Given the description of an element on the screen output the (x, y) to click on. 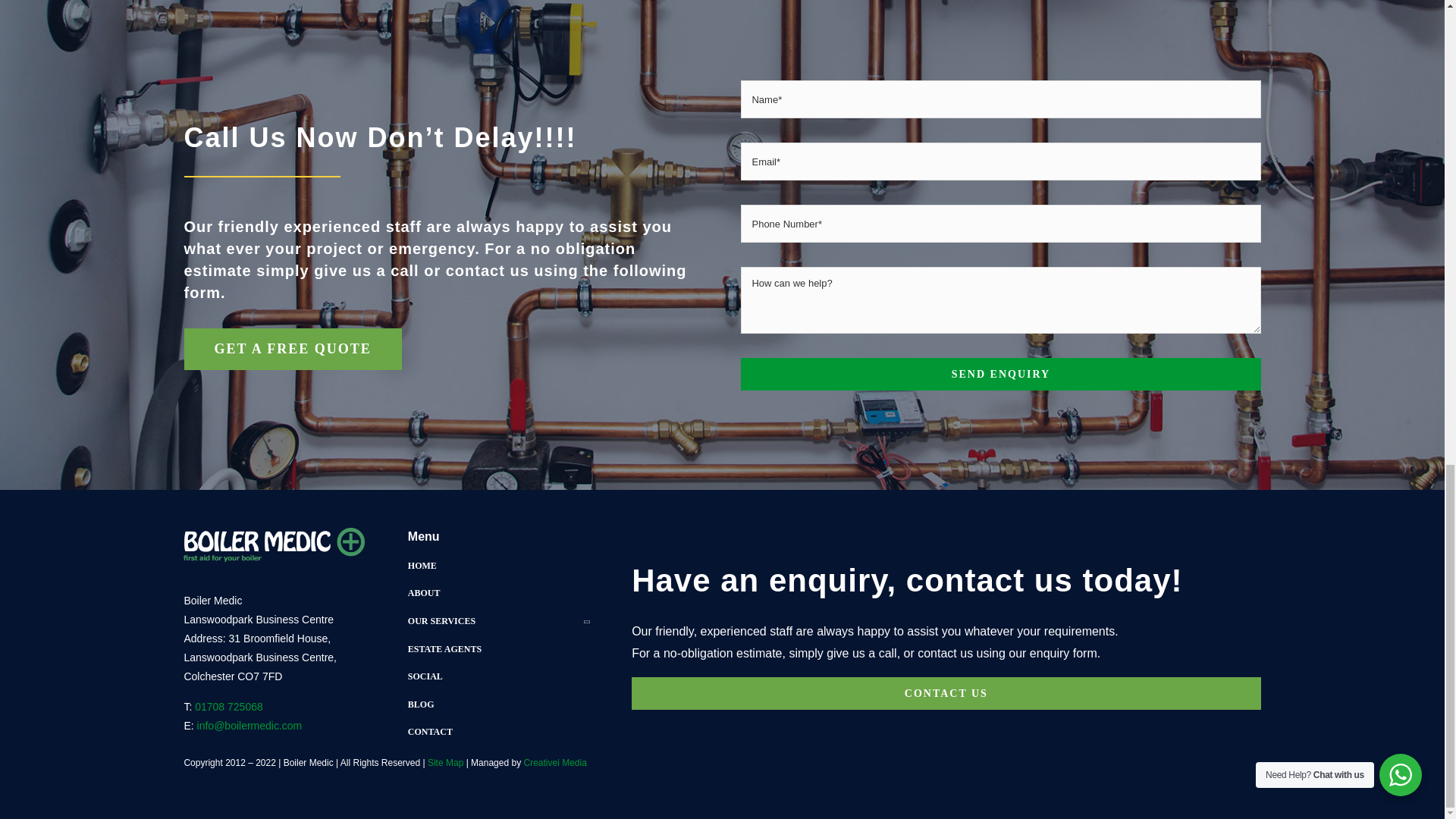
OUR SERVICES (498, 621)
01708 725068 (229, 706)
ABOUT (498, 593)
GET A FREE QUOTE (292, 349)
HOME (498, 566)
Only numbers and phone characters are accepted. (1000, 223)
get a free quote (292, 349)
SEND ENQUIRY (1000, 373)
